Given the description of an element on the screen output the (x, y) to click on. 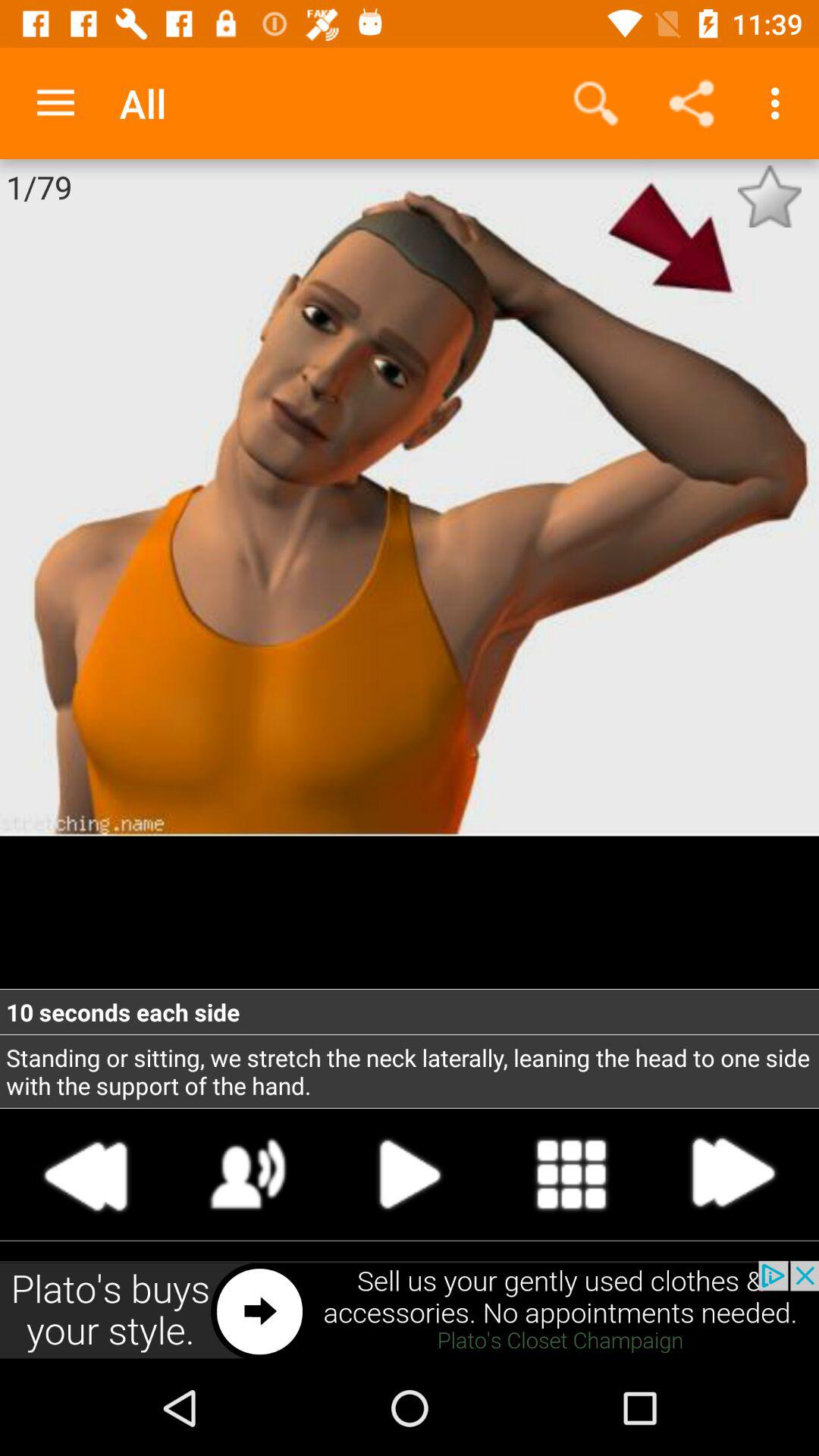
start tio (409, 1174)
